Given the description of an element on the screen output the (x, y) to click on. 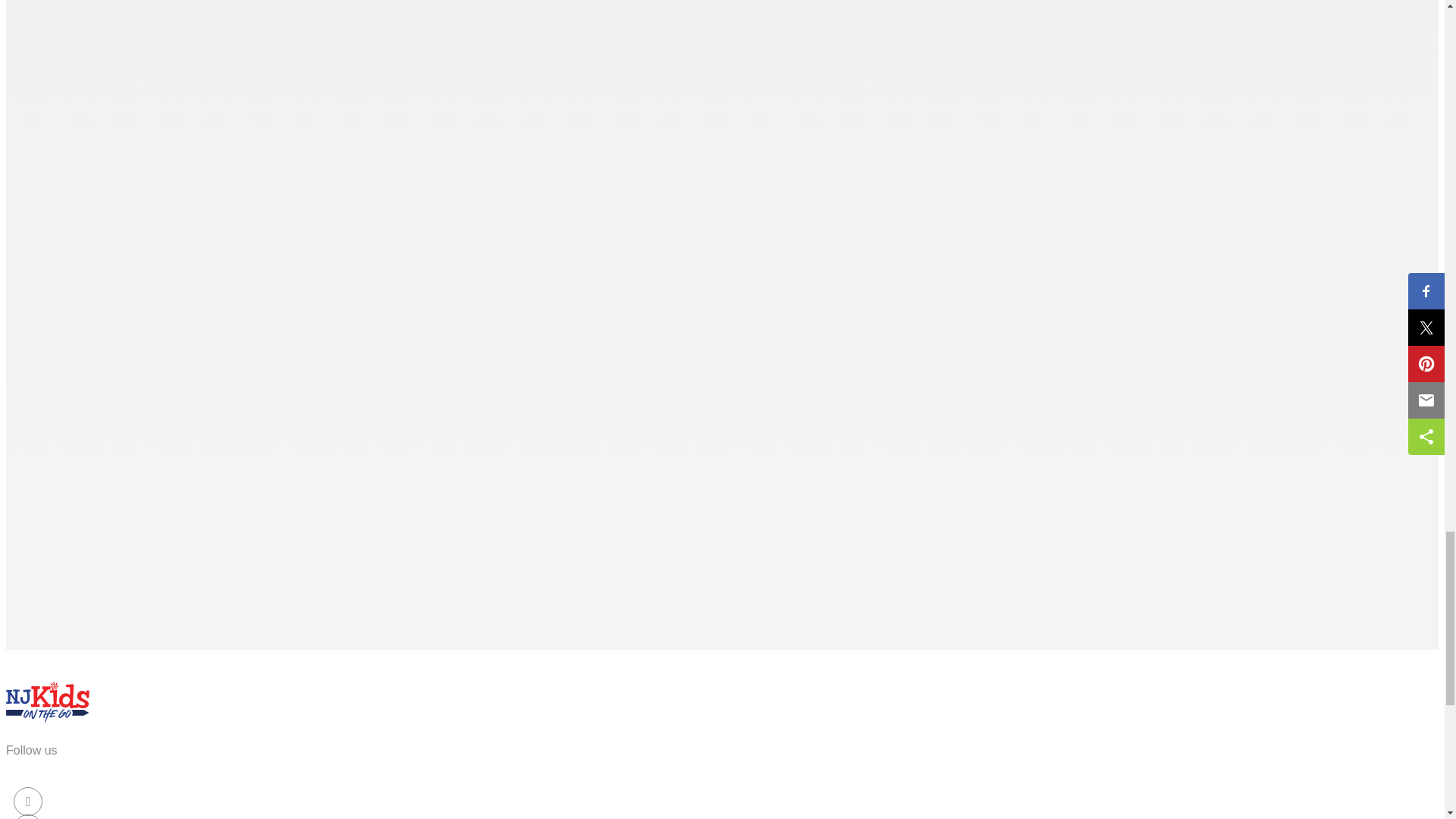
3rd party ad content (118, 319)
3rd party ad content (118, 130)
3rd party ad content (118, 18)
3rd party ad content (118, 509)
